Given the description of an element on the screen output the (x, y) to click on. 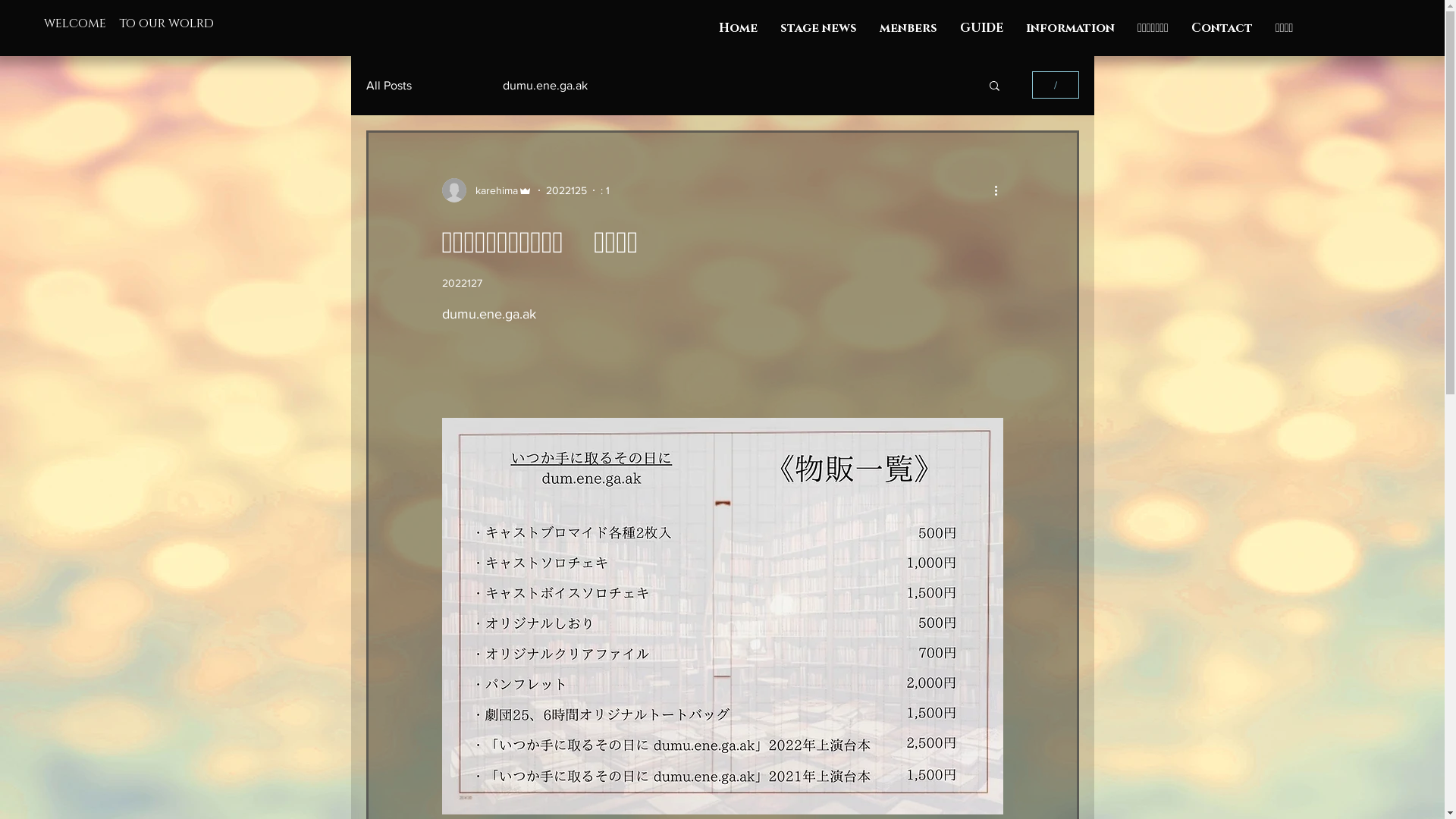
information Element type: text (1070, 27)
All Posts Element type: text (388, 84)
Home Element type: text (737, 27)
stage news Element type: text (818, 27)
GUIDE Element type: text (981, 27)
menbers Element type: text (908, 27)
Contact Element type: text (1221, 27)
